Given the description of an element on the screen output the (x, y) to click on. 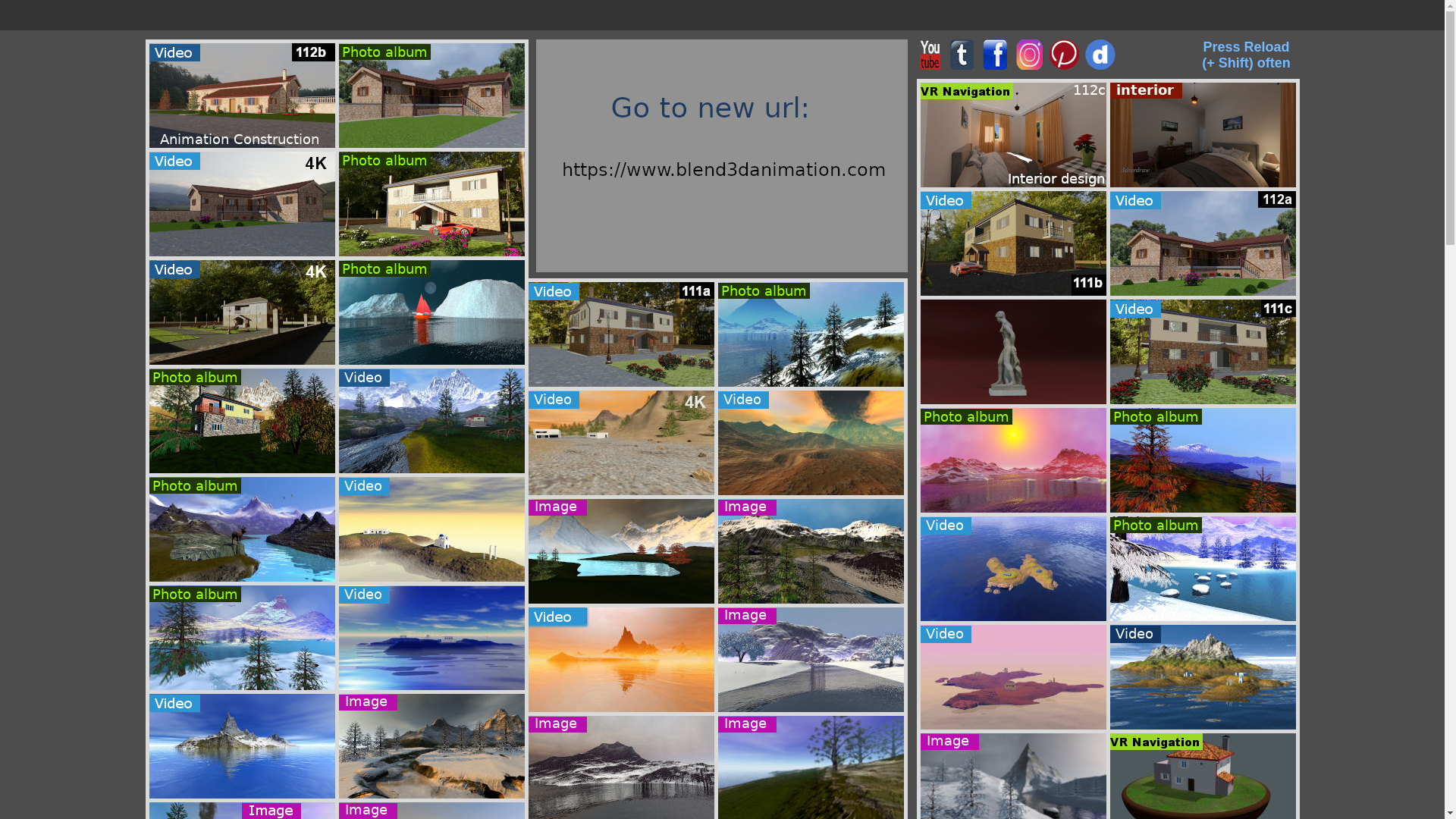
Modern house animation Element type: hover (620, 442)
Natural landscapes Element type: hover (431, 312)
Animation at home, garden with grass plants and flowers Element type: hover (1202, 351)
